Given the description of an element on the screen output the (x, y) to click on. 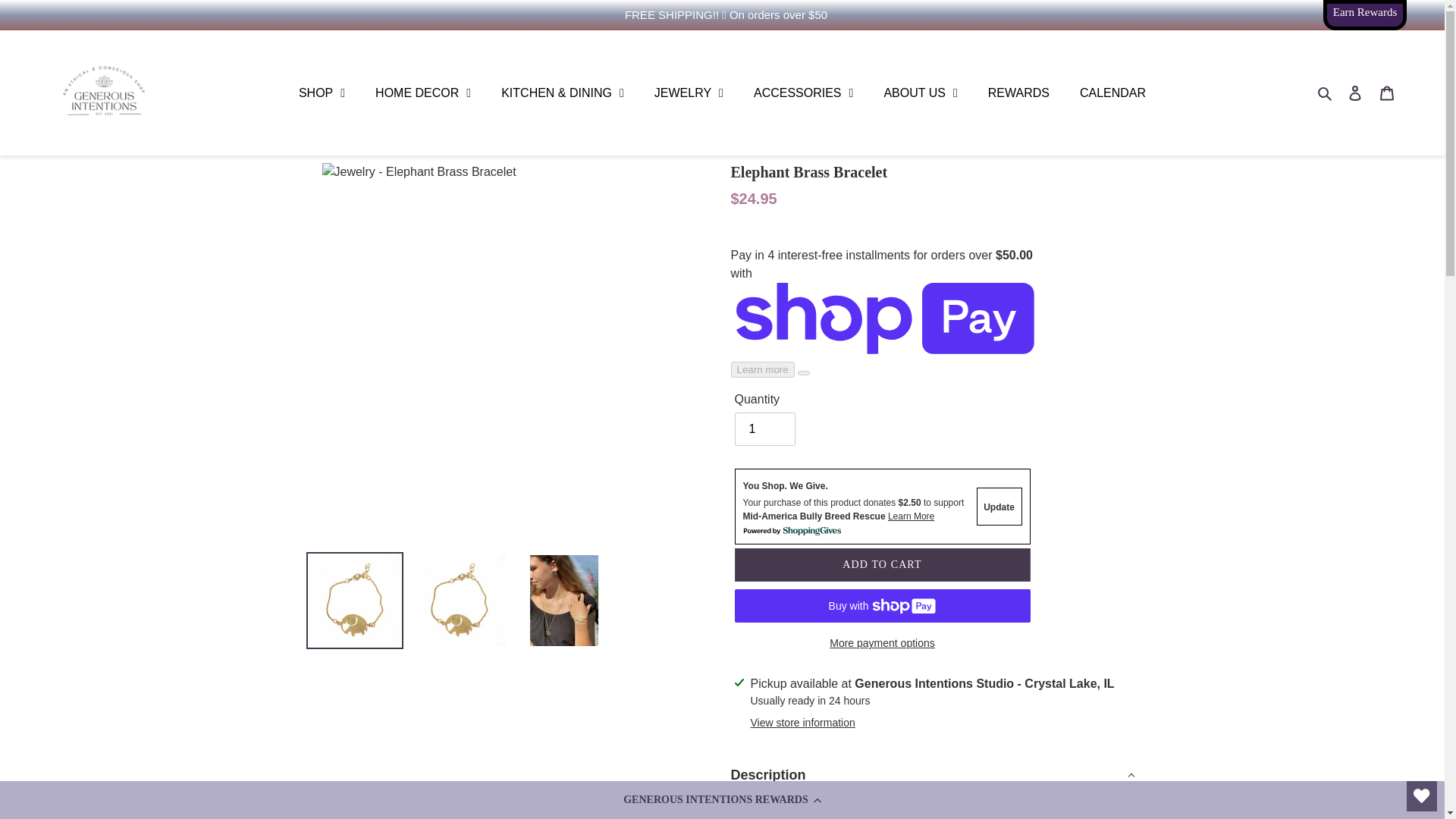
SHOP (321, 92)
Shop (321, 92)
1 (763, 428)
